Given the description of an element on the screen output the (x, y) to click on. 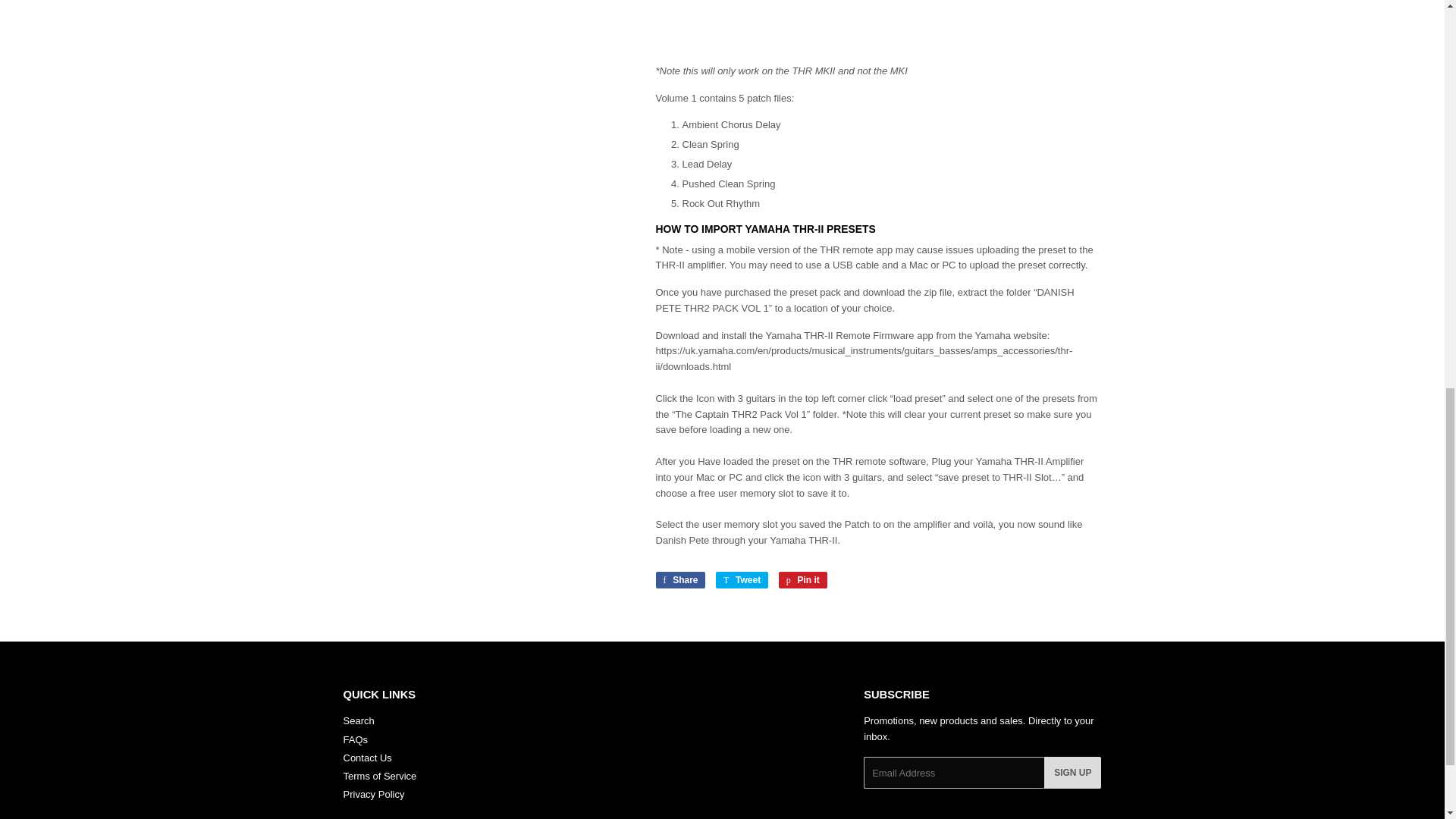
YouTube video player (877, 26)
Pin on Pinterest (802, 579)
Share on Facebook (679, 579)
Tweet on Twitter (742, 579)
